Given the description of an element on the screen output the (x, y) to click on. 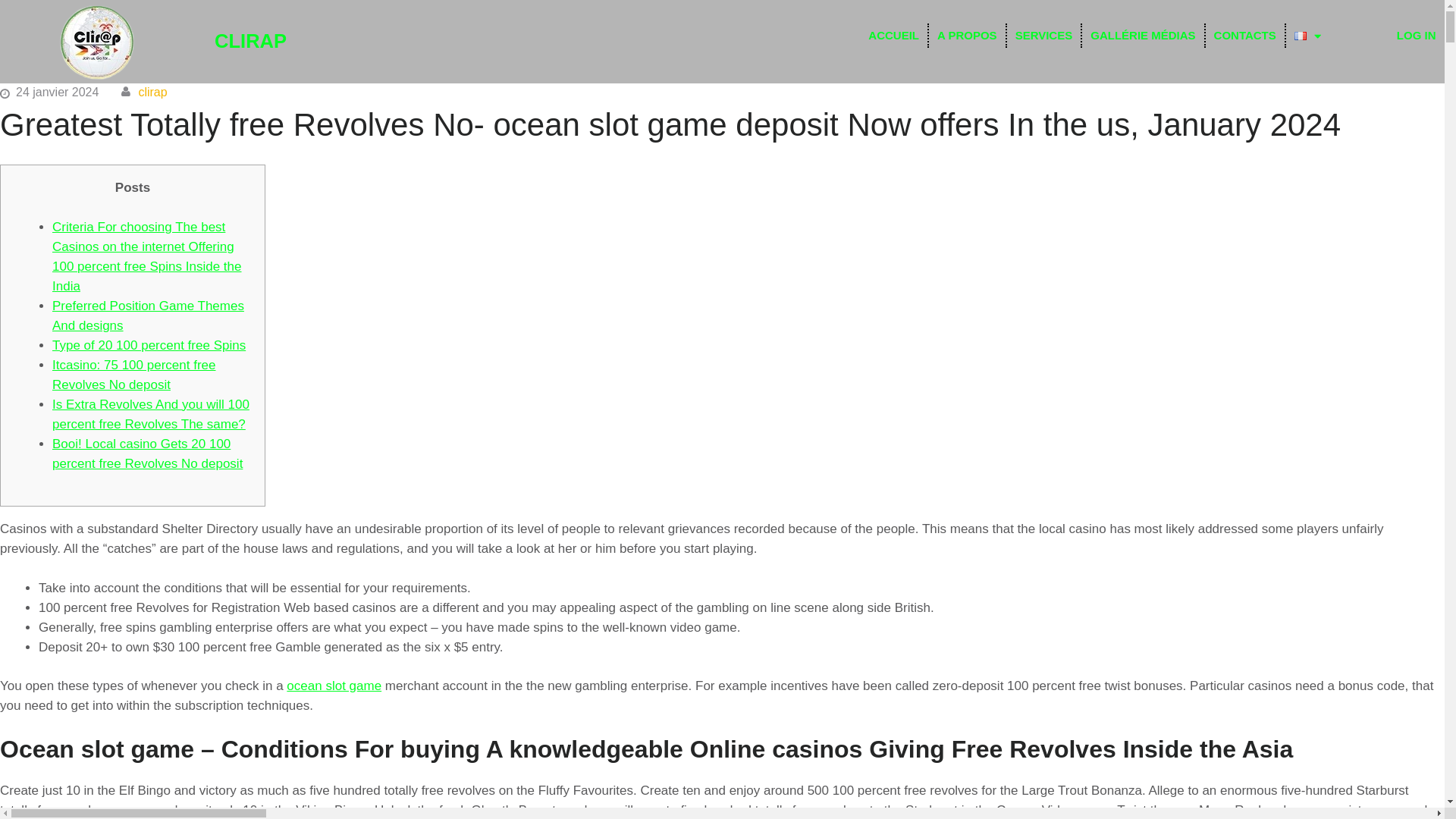
clirap (152, 91)
SERVICES (1044, 35)
Preferred Position Game Themes And designs (148, 315)
Itcasino: 75 100 percent free Revolves No deposit (133, 374)
ocean slot game (333, 685)
Type of 20 100 percent free Spins (149, 345)
CONTACTS (1244, 35)
A PROPOS (967, 35)
